Given the description of an element on the screen output the (x, y) to click on. 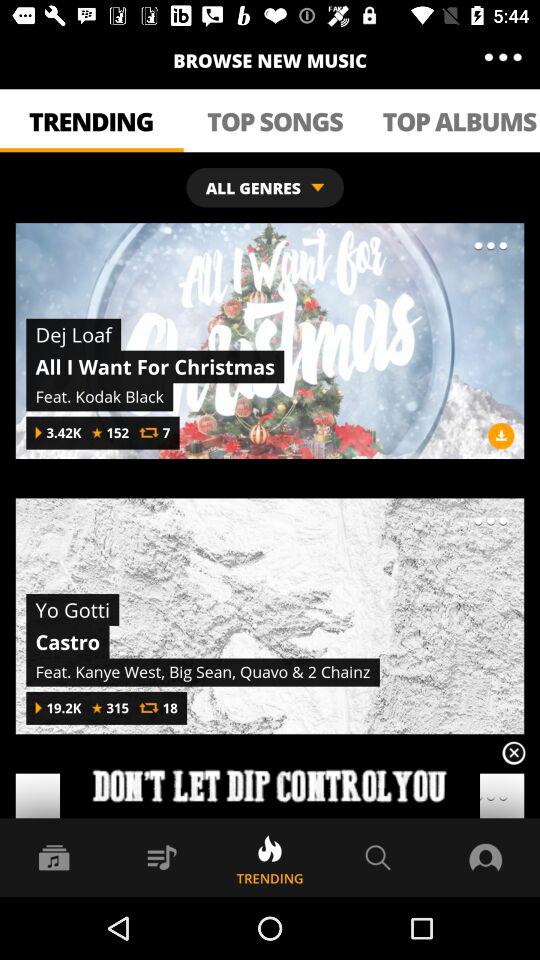
turn off the item to the right of browse new music icon (502, 57)
